Given the description of an element on the screen output the (x, y) to click on. 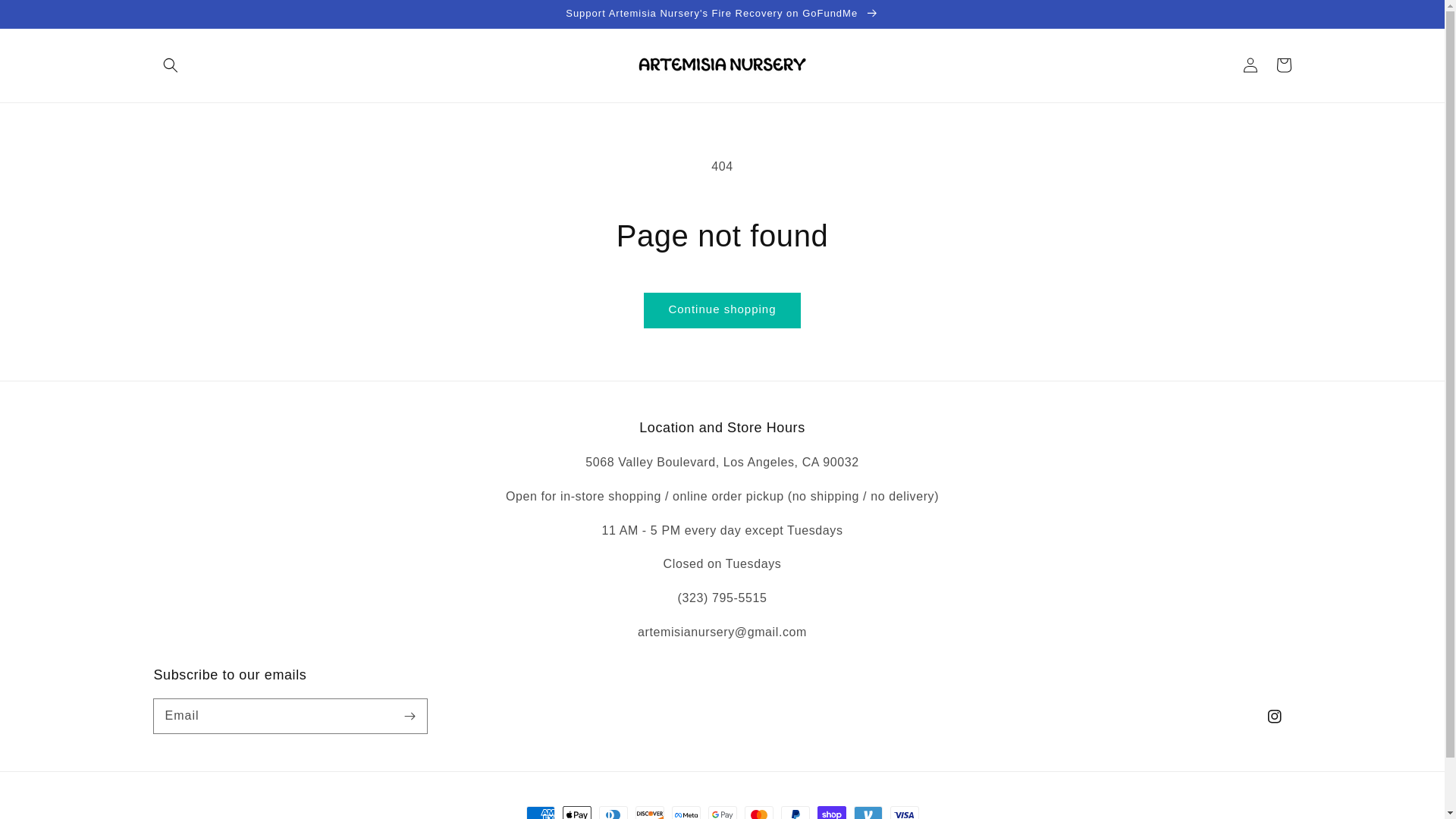
Skip to content (45, 16)
Continue shopping (722, 310)
Log in (1249, 64)
Cart (1283, 64)
Instagram (1273, 716)
